Given the description of an element on the screen output the (x, y) to click on. 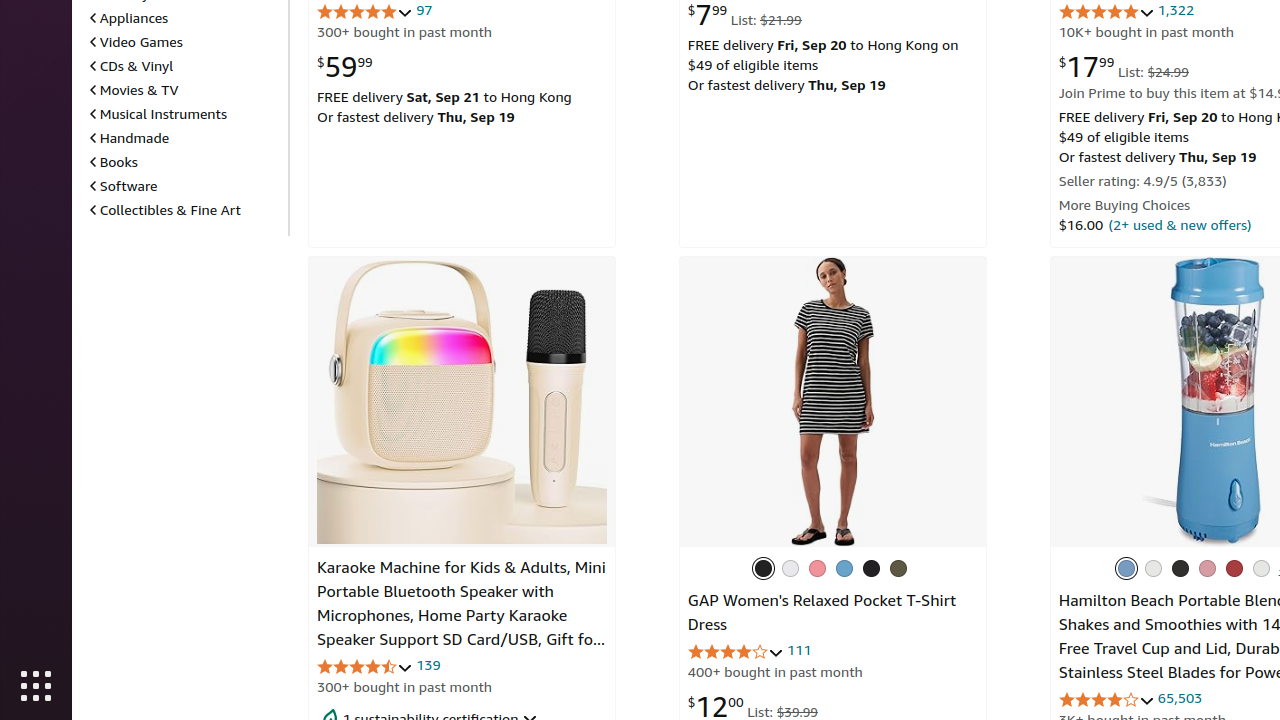
1,322 Element type: link (1176, 10)
Coral Element type: push-button (1207, 568)
Tranquil Blue Element type: push-button (1126, 568)
CDs & Vinyl Element type: link (132, 65)
Books Element type: link (114, 161)
